Given the description of an element on the screen output the (x, y) to click on. 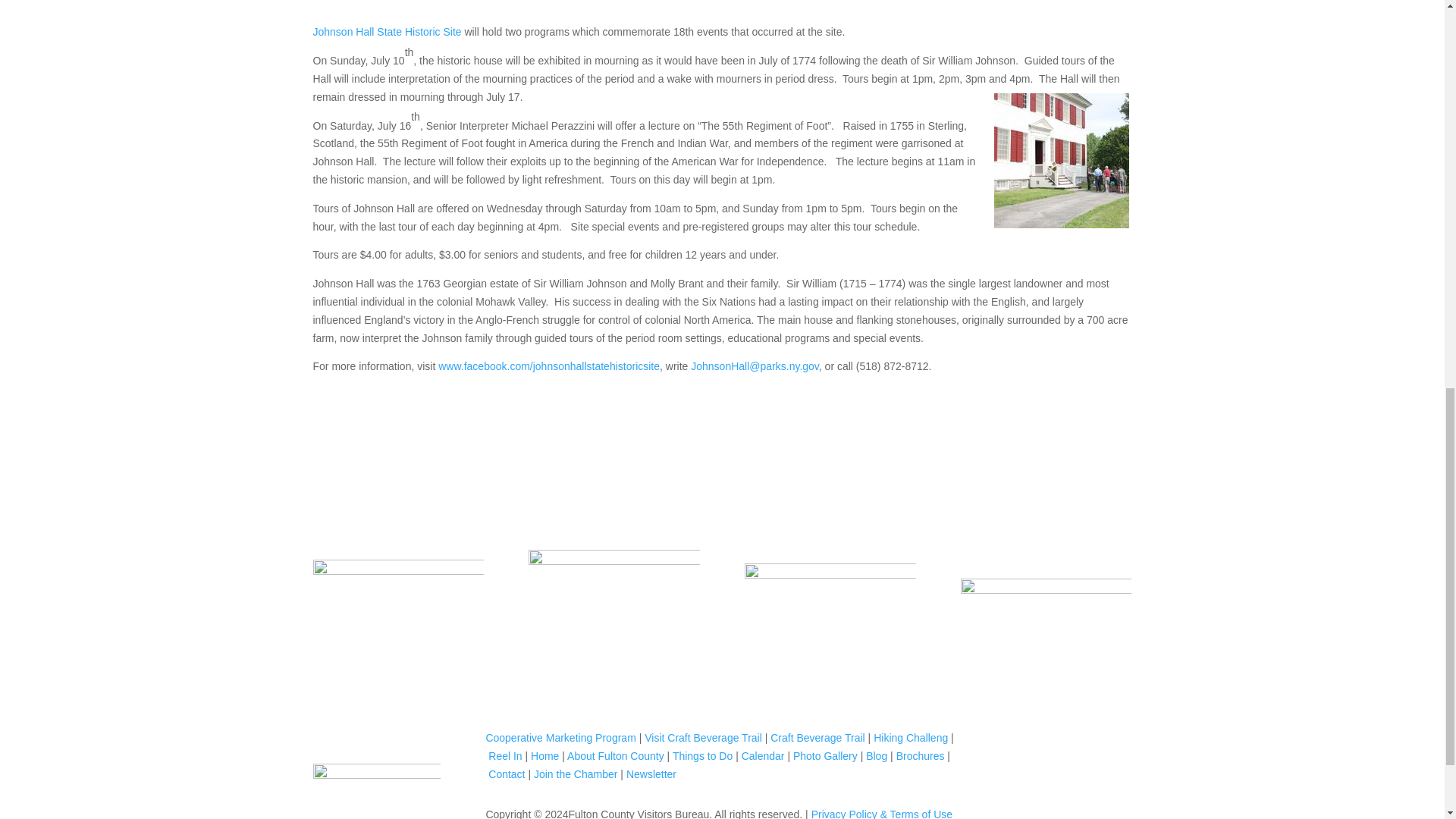
Join the Chamber (575, 774)
Reel In (504, 756)
Calendar (762, 756)
About Fulton County (615, 756)
Photo Gallery (825, 756)
Brochures (920, 756)
Craft Beverage Trail (817, 737)
Contact (505, 774)
Visit Craft Beverage Trail (703, 737)
Hiking Challeng (910, 737)
Cooperative Marketing Program (559, 737)
PTH-Logo-Final (829, 610)
Follow on X (1045, 774)
Home (545, 756)
Things to Do (702, 756)
